Given the description of an element on the screen output the (x, y) to click on. 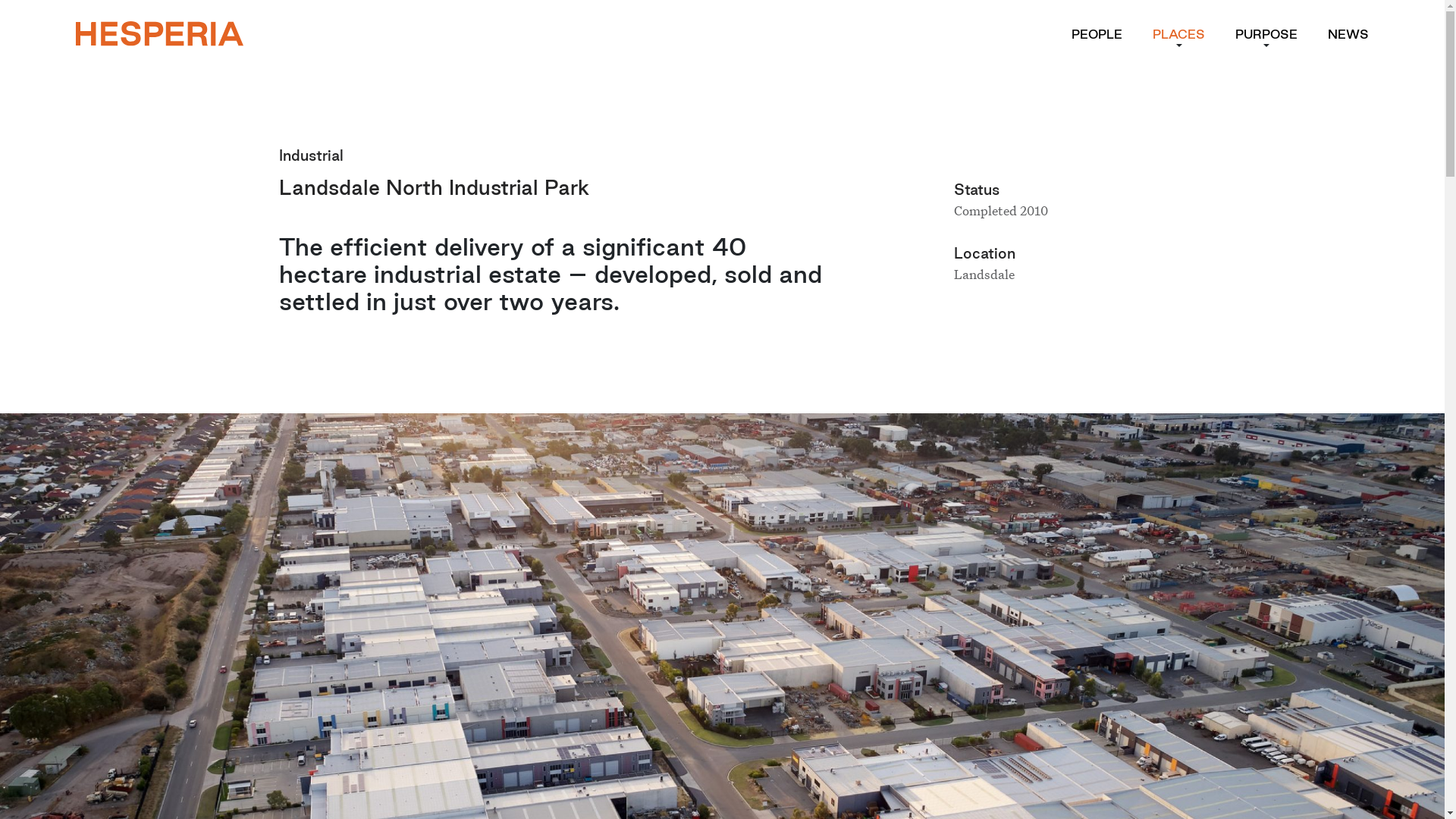
PEOPLE Element type: text (1096, 33)
PURPOSE Element type: text (1266, 33)
PLACES Element type: text (1178, 33)
NEWS Element type: text (1347, 33)
